Given the description of an element on the screen output the (x, y) to click on. 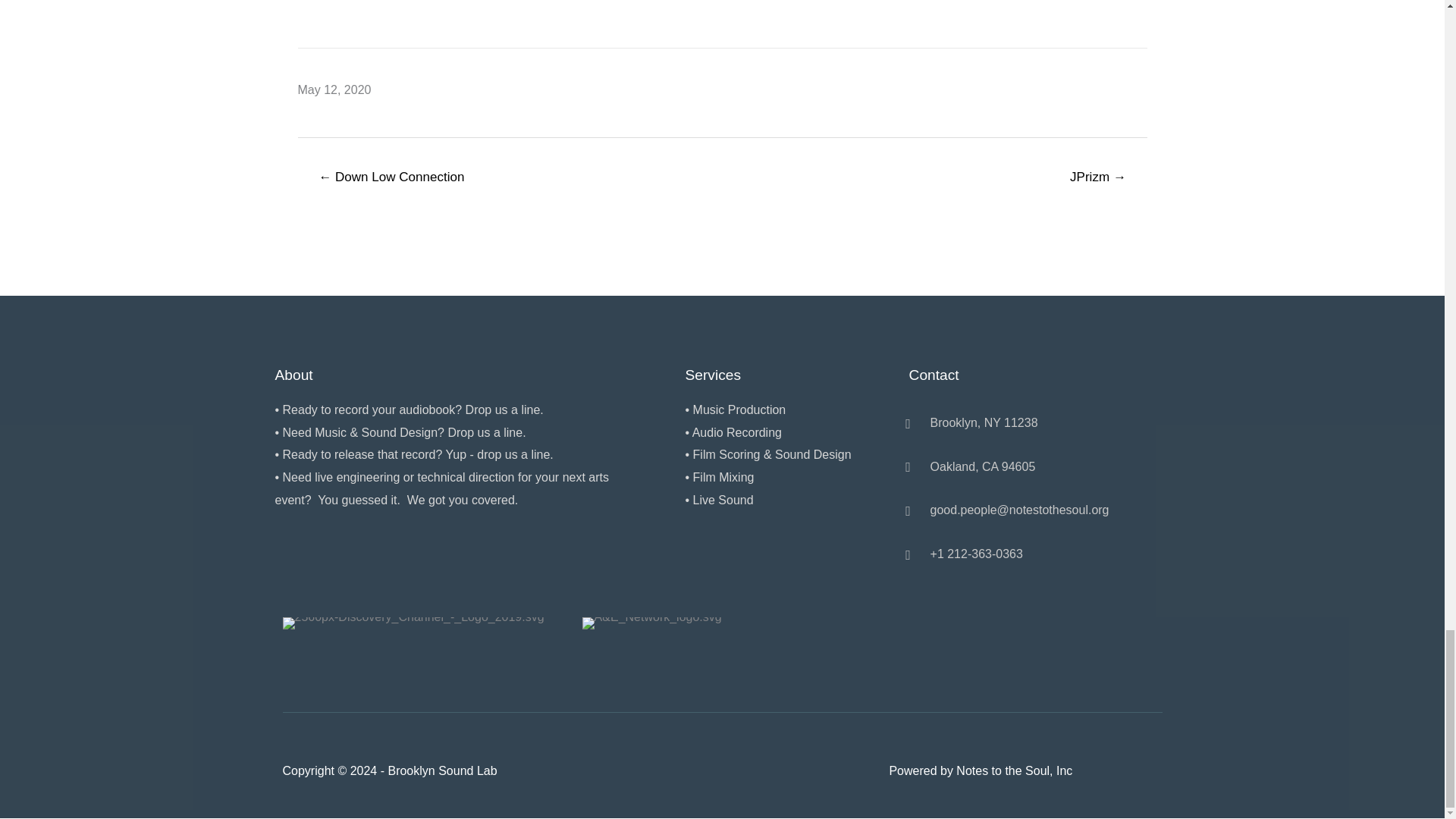
Notes to the Soul, Inc (1013, 770)
